Given the description of an element on the screen output the (x, y) to click on. 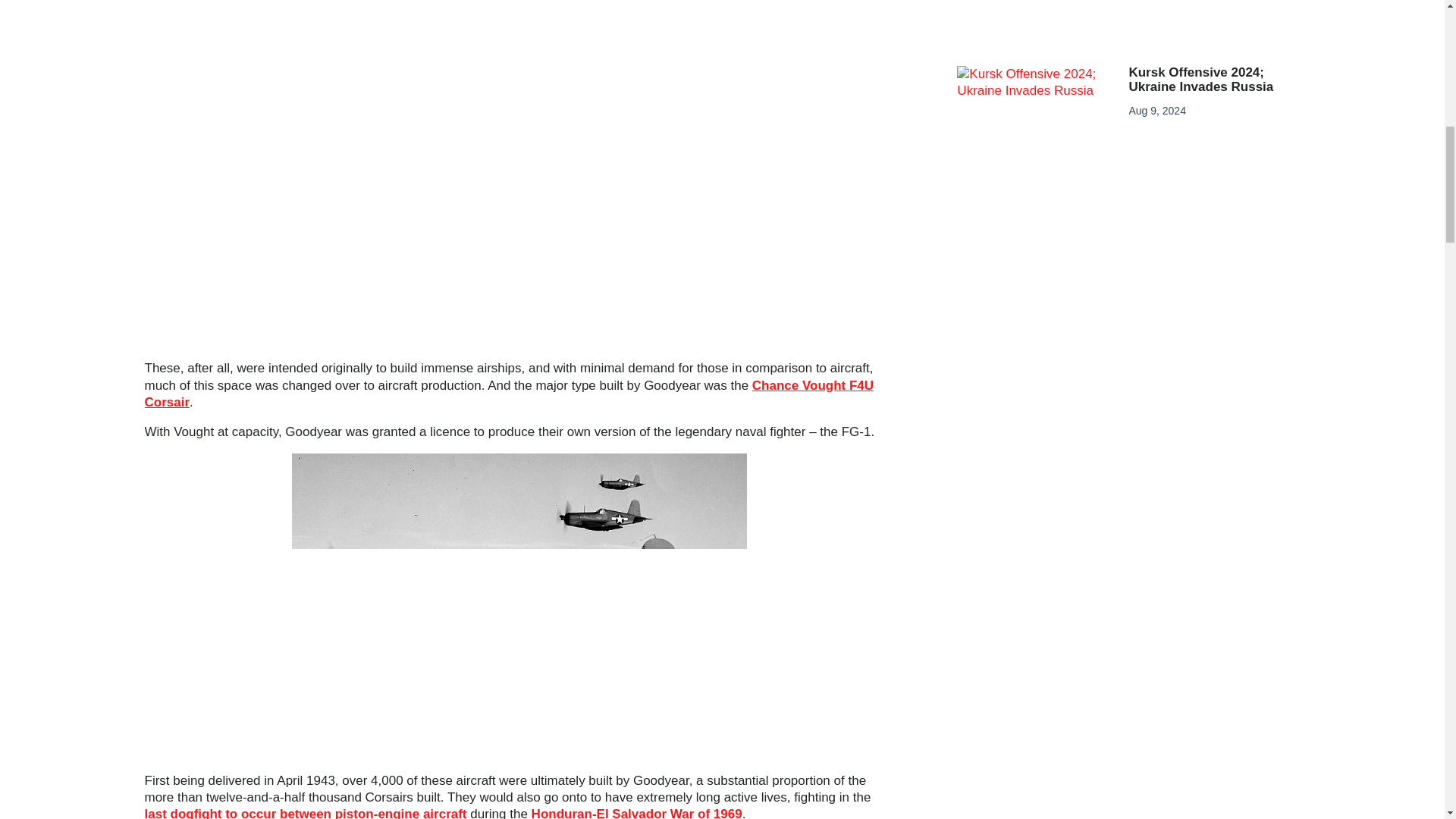
last dogfight to occur between piston-engine aircraft (304, 812)
Chance Vought F4U Corsair (508, 393)
Honduran-El Salvador War of 1969 (636, 812)
